Given the description of an element on the screen output the (x, y) to click on. 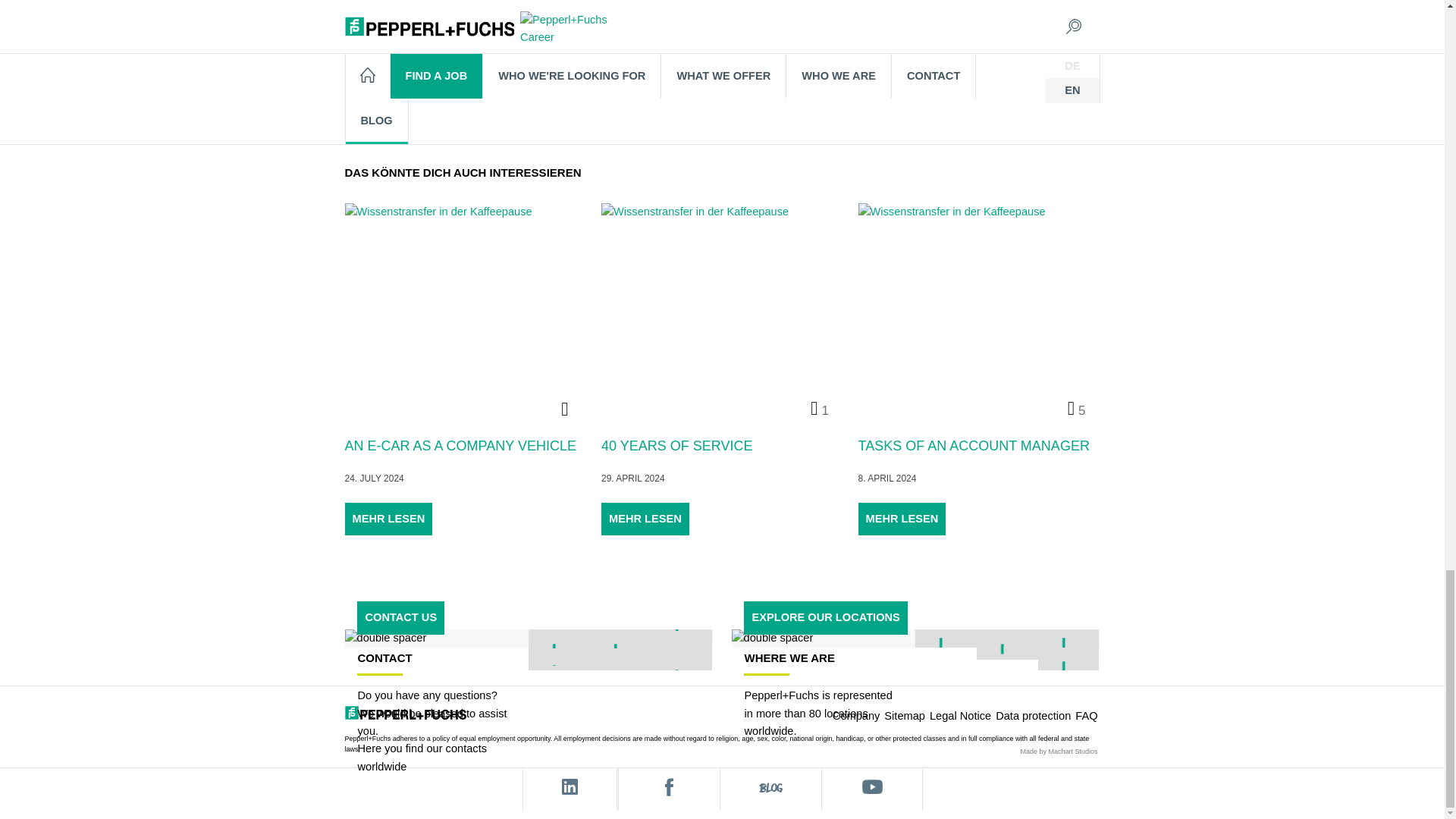
Like (356, 100)
